Given the description of an element on the screen output the (x, y) to click on. 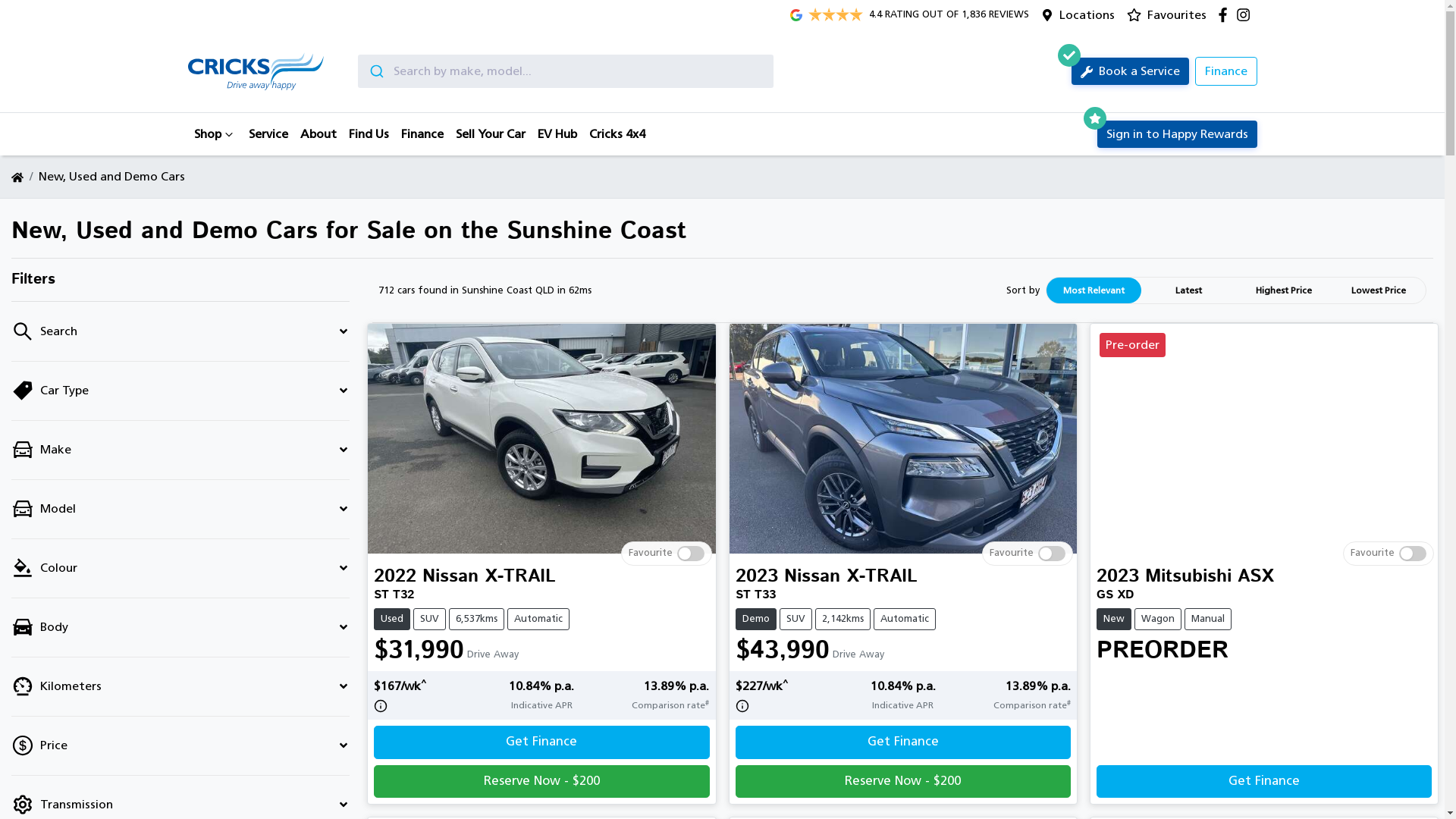
Search Element type: text (180, 331)
2023 Mitsubishi ASX
GS XD
New
Wagon
Manual
PREORDER Element type: text (1263, 662)
Cricks 4x4 Element type: text (616, 134)
Sign in to Happy Rewards Element type: text (1176, 133)
EV Hub Element type: text (556, 134)
Body Element type: text (180, 627)
Colour Element type: text (180, 568)
Shop Element type: text (215, 134)
Favourites Element type: text (1170, 15)
Kilometers Element type: text (180, 686)
Finance Element type: text (421, 134)
Pre-order Element type: text (1263, 437)
Model Element type: text (180, 509)
Book a Service Element type: text (1129, 70)
Reserve Now - $200 Element type: text (541, 781)
Find Us Element type: text (368, 134)
About Element type: text (318, 134)
Locations Element type: text (1086, 15)
Get Finance Element type: text (902, 741)
Car Type Element type: text (180, 390)
Get Finance Element type: text (541, 741)
Submit Element type: hover (375, 70)
Get Finance Element type: text (1263, 781)
Finance Element type: text (1226, 70)
Sell Your Car Element type: text (489, 134)
Make Element type: text (180, 450)
Reserve Now - $200 Element type: text (902, 781)
Price Element type: text (180, 745)
Service Element type: text (268, 134)
